Given the description of an element on the screen output the (x, y) to click on. 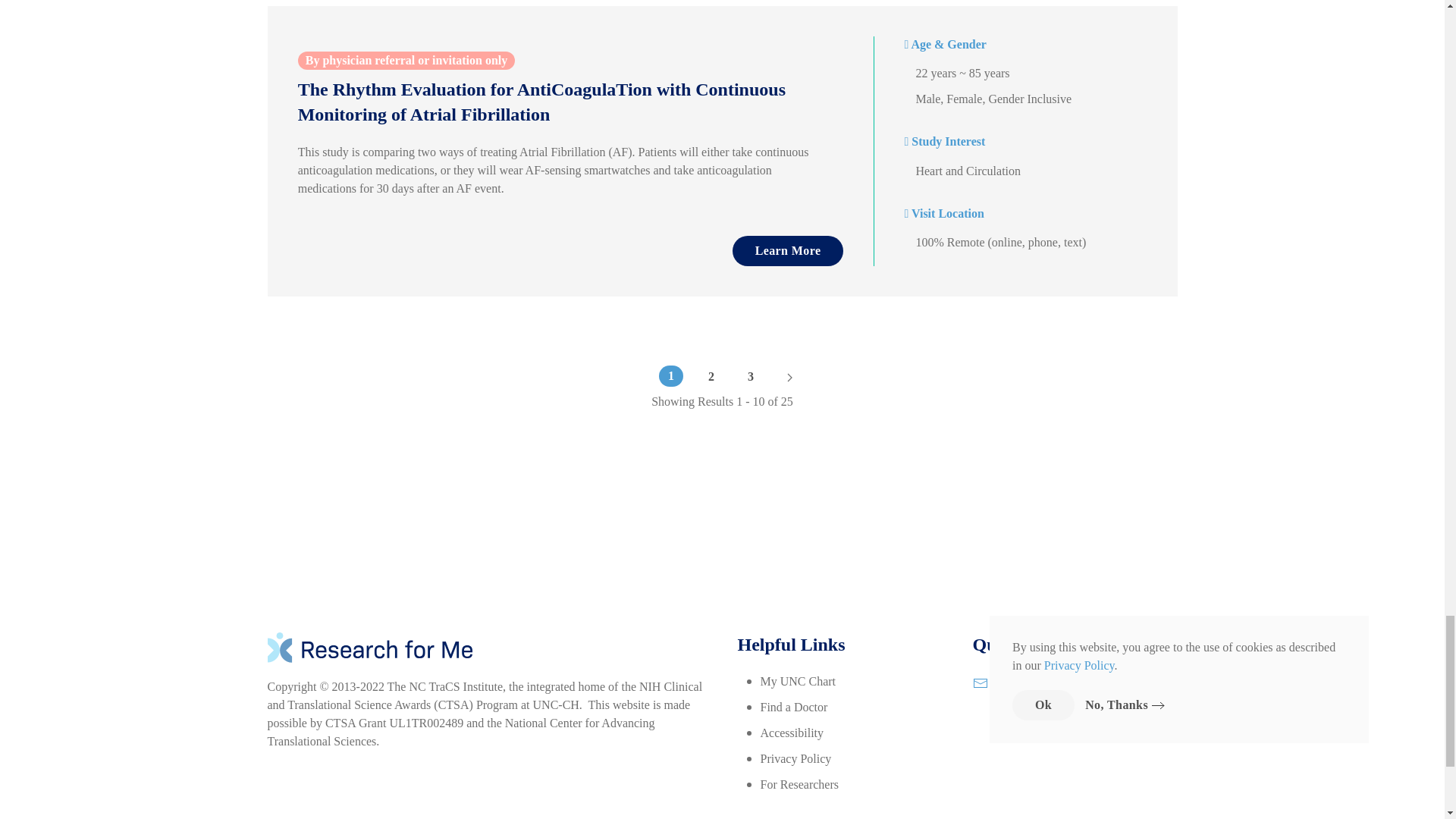
Next (789, 376)
